Given the description of an element on the screen output the (x, y) to click on. 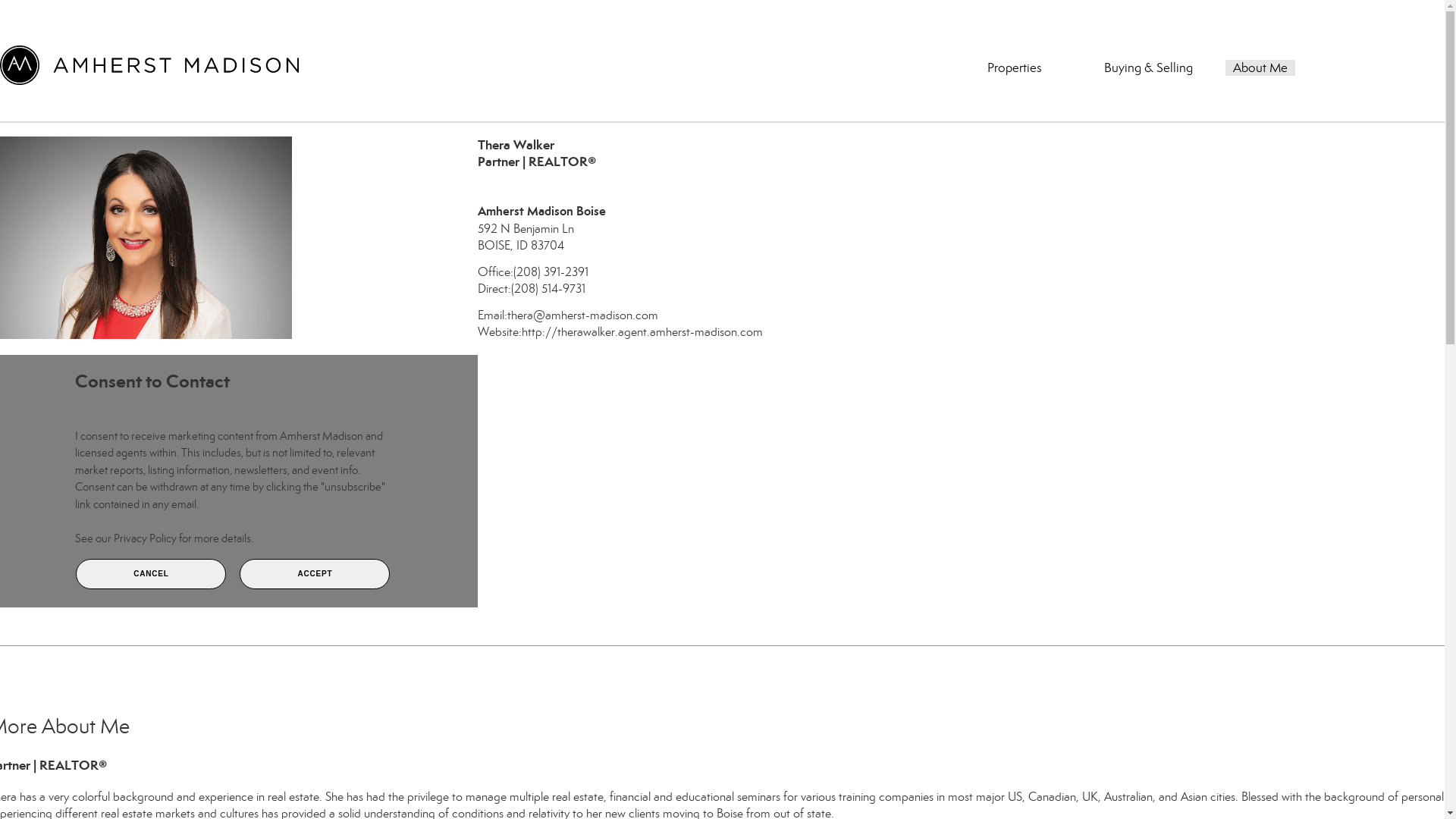
Privacy Policy Element type: text (144, 538)
(208) 391-2391 Element type: text (550, 270)
thera@amherst-madison.com Element type: text (582, 314)
Neighborhood News Element type: text (1378, 112)
About Me Element type: text (1260, 67)
Follow me on Facebook Element type: hover (481, 357)
CANCEL Element type: text (150, 573)
Contact Me Element type: text (1269, 112)
Buying & Selling Tips Element type: text (1160, 97)
ACCEPT Element type: text (314, 573)
Buying & Selling Element type: text (1148, 67)
(208) 514-9731 Element type: text (548, 288)
My Active Listings Element type: text (1037, 112)
Properties Element type: text (1014, 67)
http://therawalker.agent.amherst-madison.com Element type: text (641, 331)
Financial Calculators Element type: text (1160, 112)
Home Element type: text (955, 112)
My Bio Element type: text (1256, 97)
Property Search Element type: text (1032, 97)
